Given the description of an element on the screen output the (x, y) to click on. 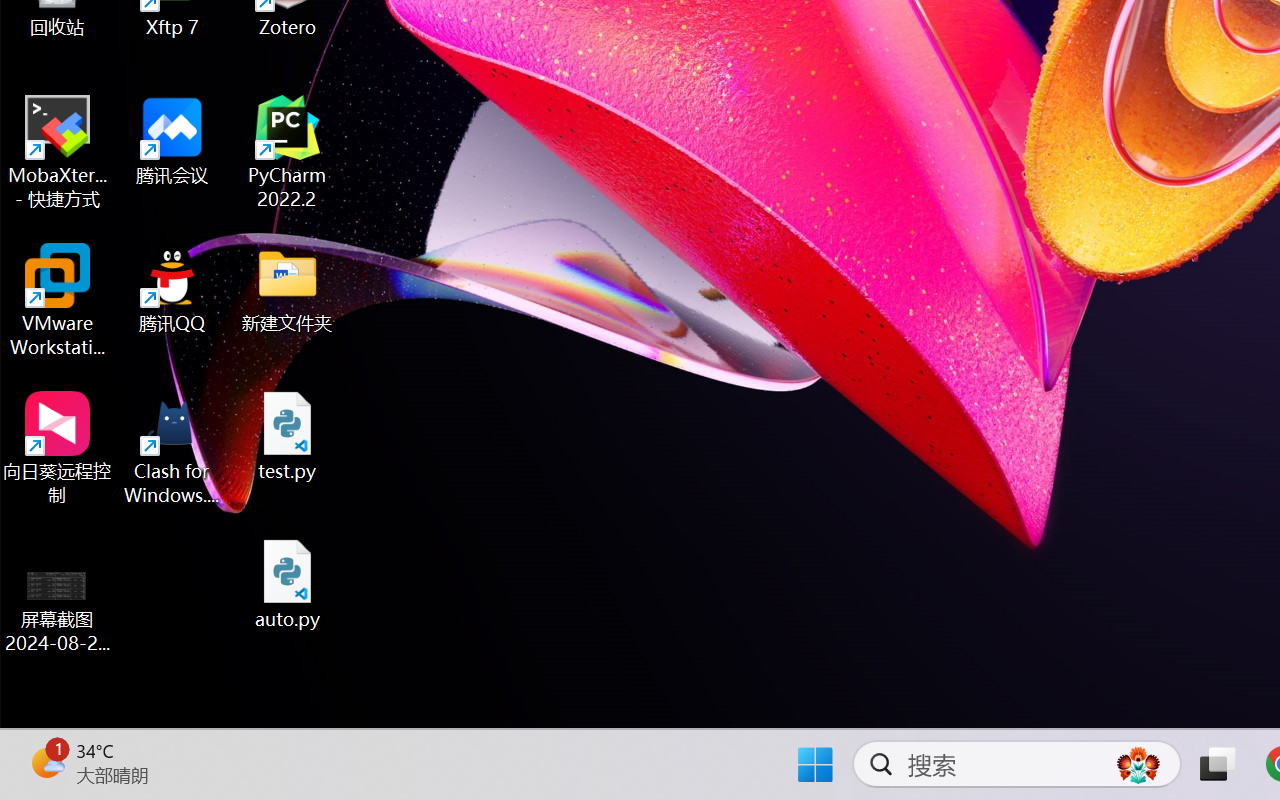
test.py (287, 436)
